Given the description of an element on the screen output the (x, y) to click on. 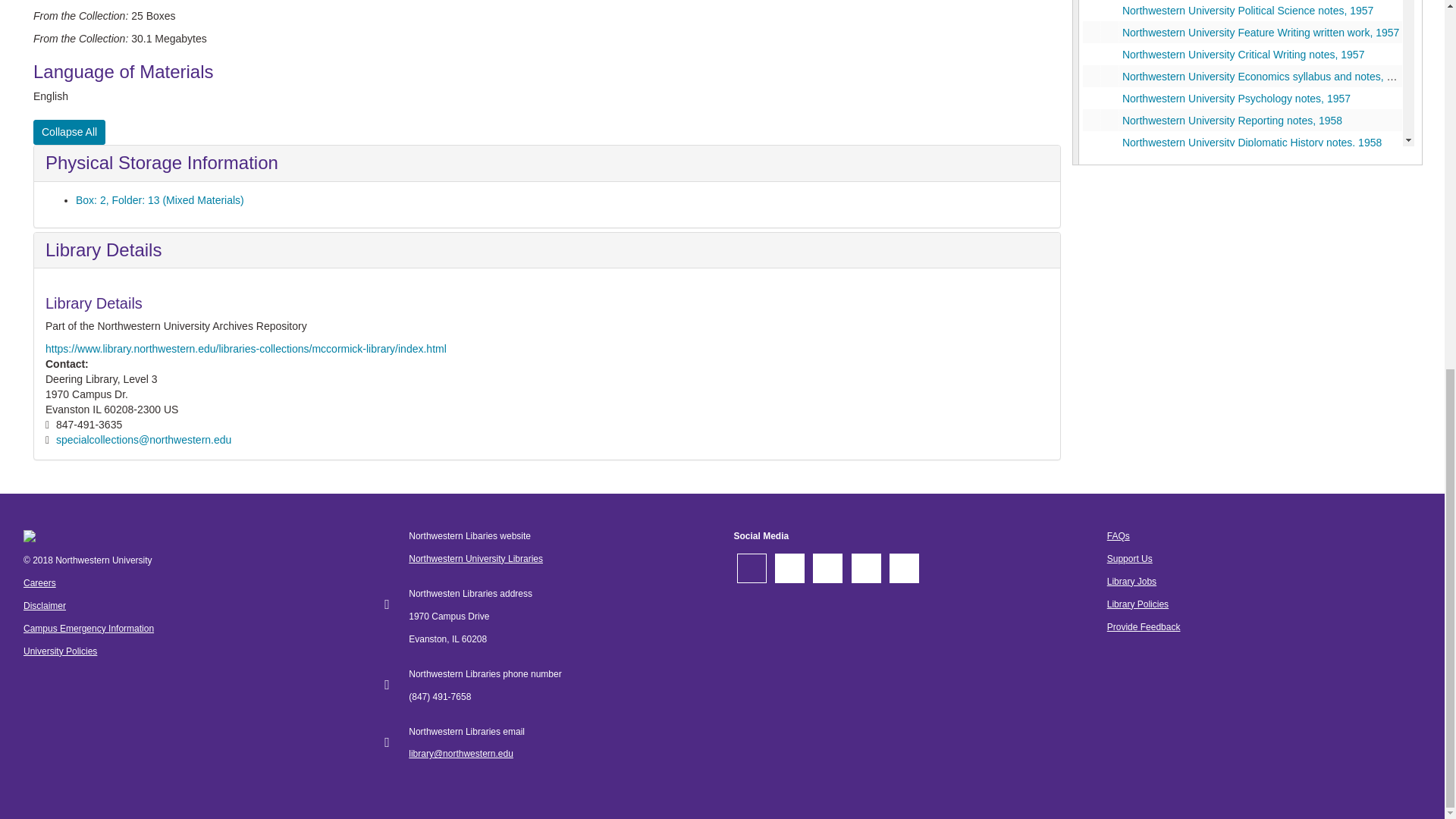
Northwestern University Political Science notes (1242, 10)
Send email (143, 439)
Collapse All (68, 131)
Library Details (103, 249)
Physical Storage Information (161, 162)
